Given the description of an element on the screen output the (x, y) to click on. 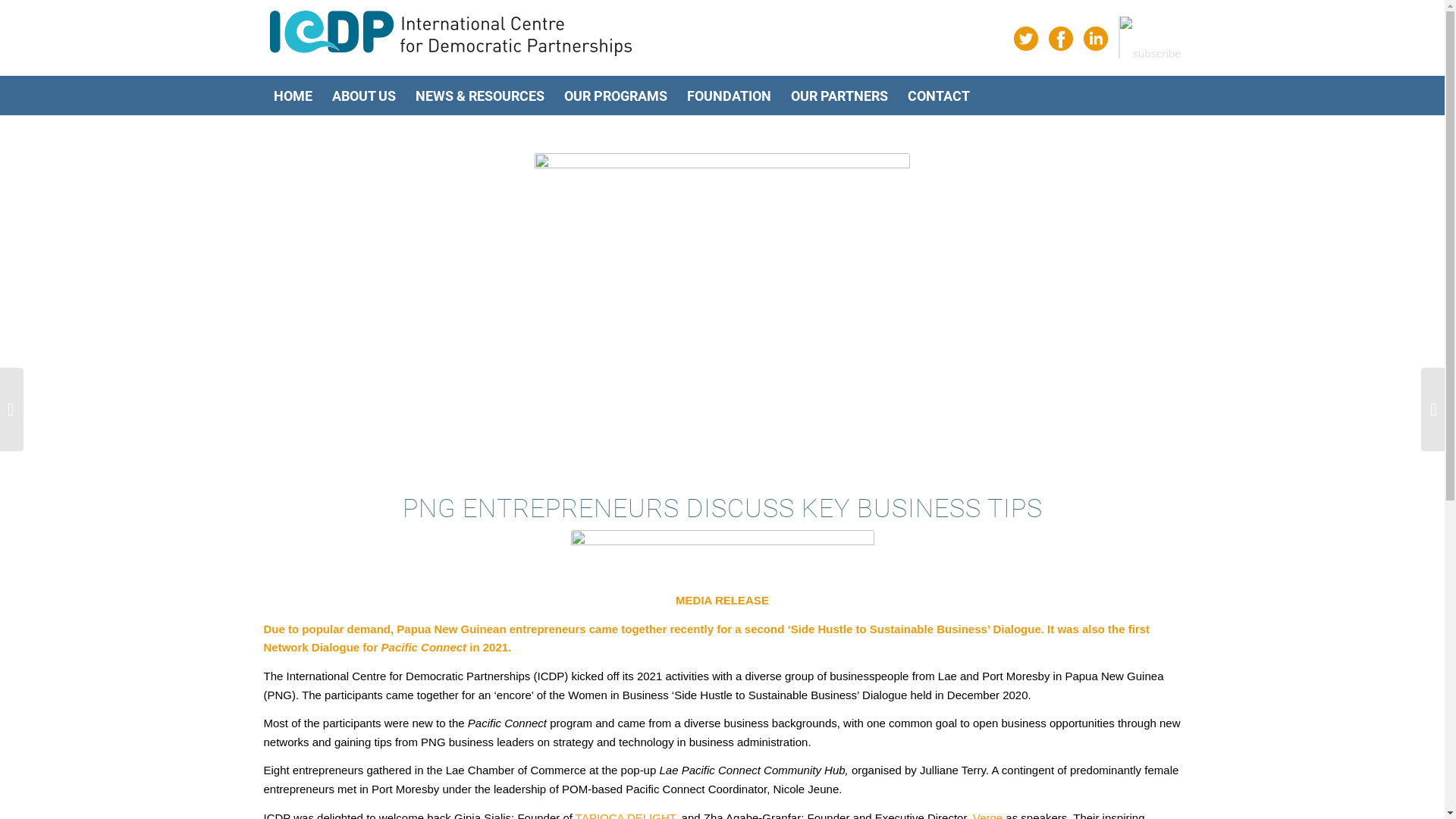
OUR PARTNERS Element type: text (839, 96)
Pacific_Connect-Logo_Coloured Element type: hover (721, 555)
CONTACT Element type: text (938, 96)
Q&A Zha Element type: hover (722, 304)
OUR PROGRAMS Element type: text (614, 96)
ABOUT US Element type: text (362, 96)
HOME Element type: text (292, 96)
icdp-logo Element type: hover (450, 33)
FOUNDATION Element type: text (728, 96)
NEWS & RESOURCES Element type: text (478, 96)
